Given the description of an element on the screen output the (x, y) to click on. 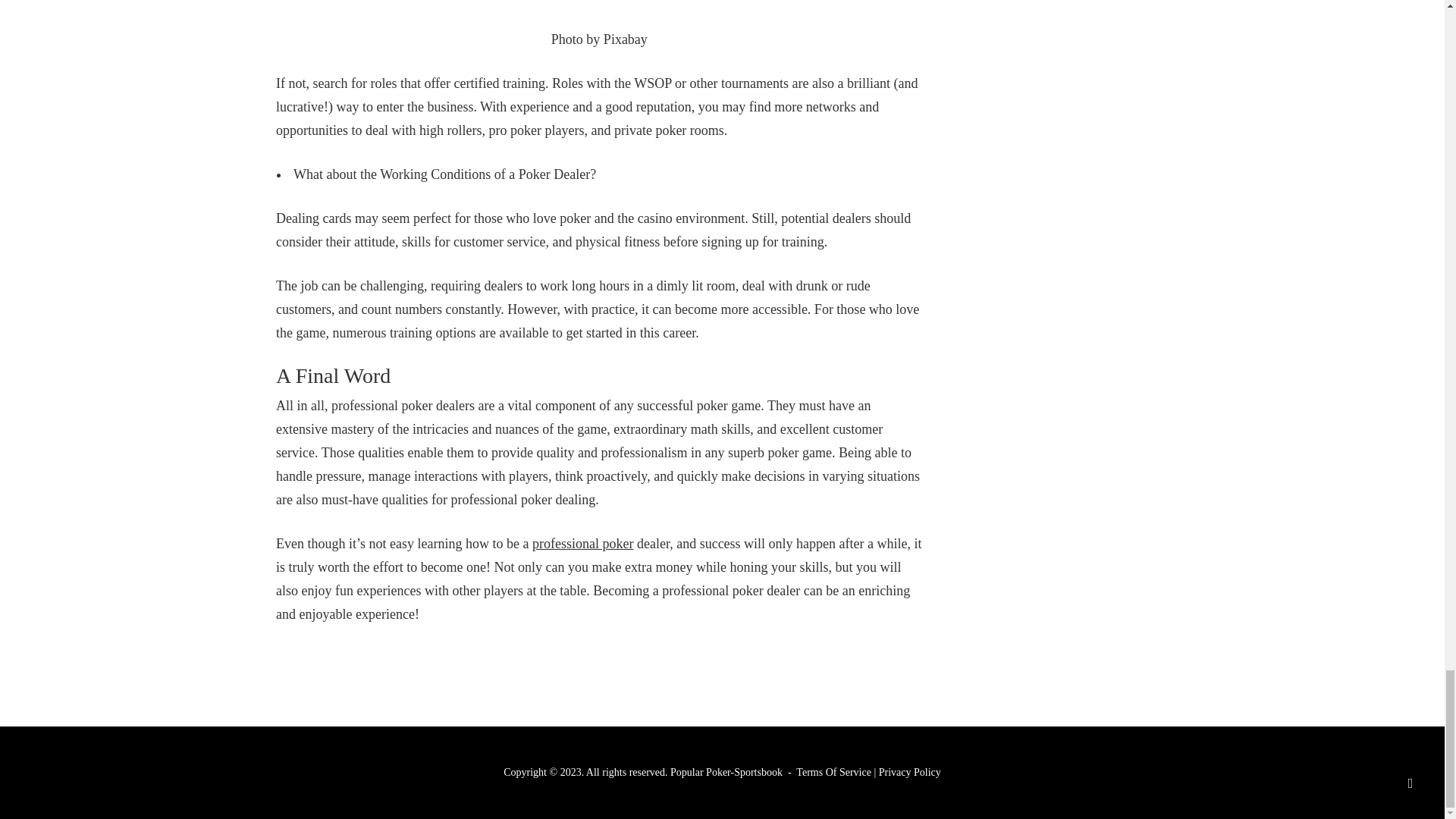
professional poker (582, 543)
